Given the description of an element on the screen output the (x, y) to click on. 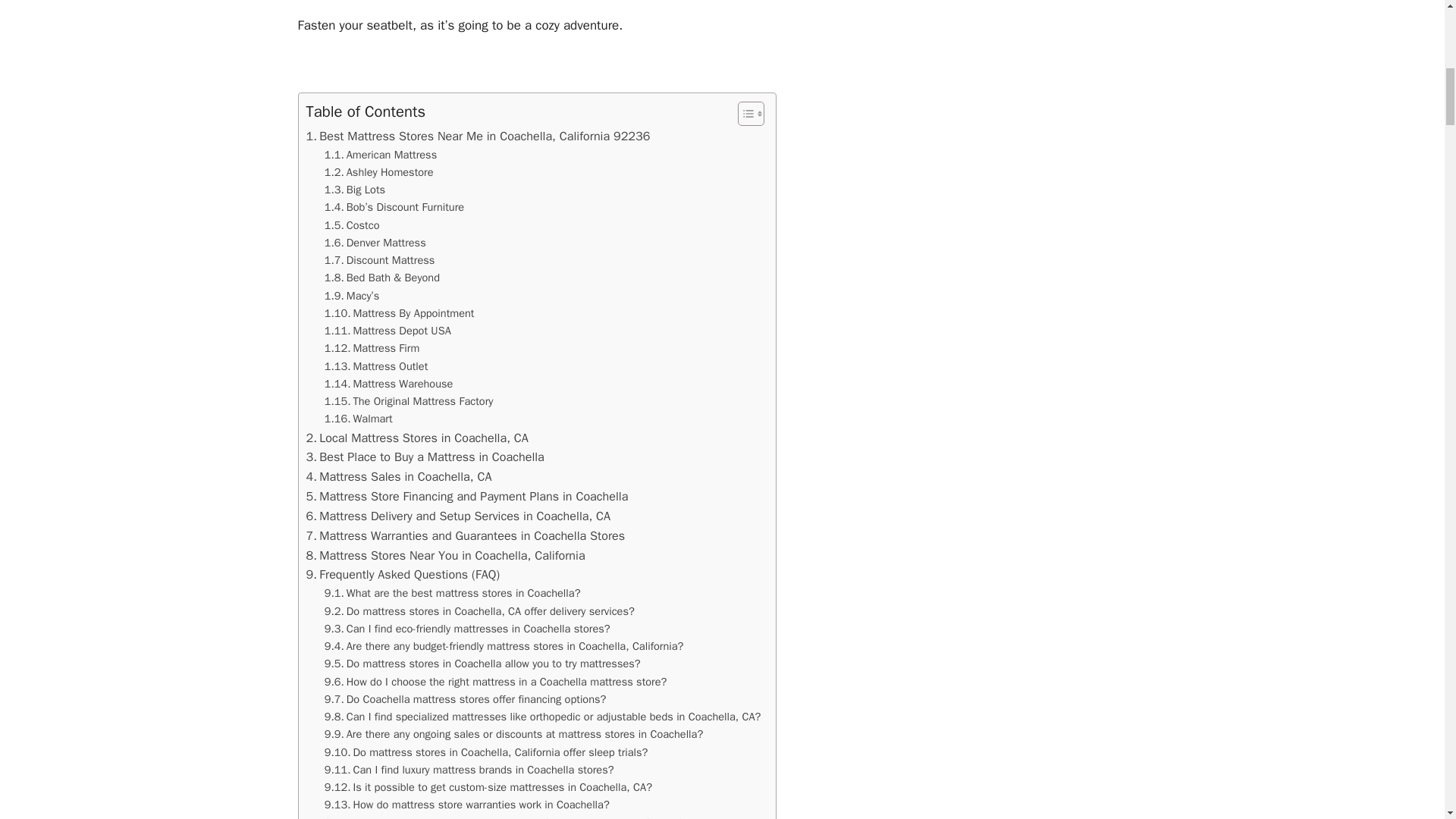
Mattress By Appointment (399, 313)
Discount Mattress (379, 260)
Costco (352, 225)
Ashley Homestore (378, 171)
Mattress Depot USA (387, 330)
Best Mattress Stores Near Me in Coachella, California 92236 (477, 136)
Mattress Firm (372, 348)
Big Lots (354, 189)
American Mattress (380, 154)
Denver Mattress (375, 242)
